Given the description of an element on the screen output the (x, y) to click on. 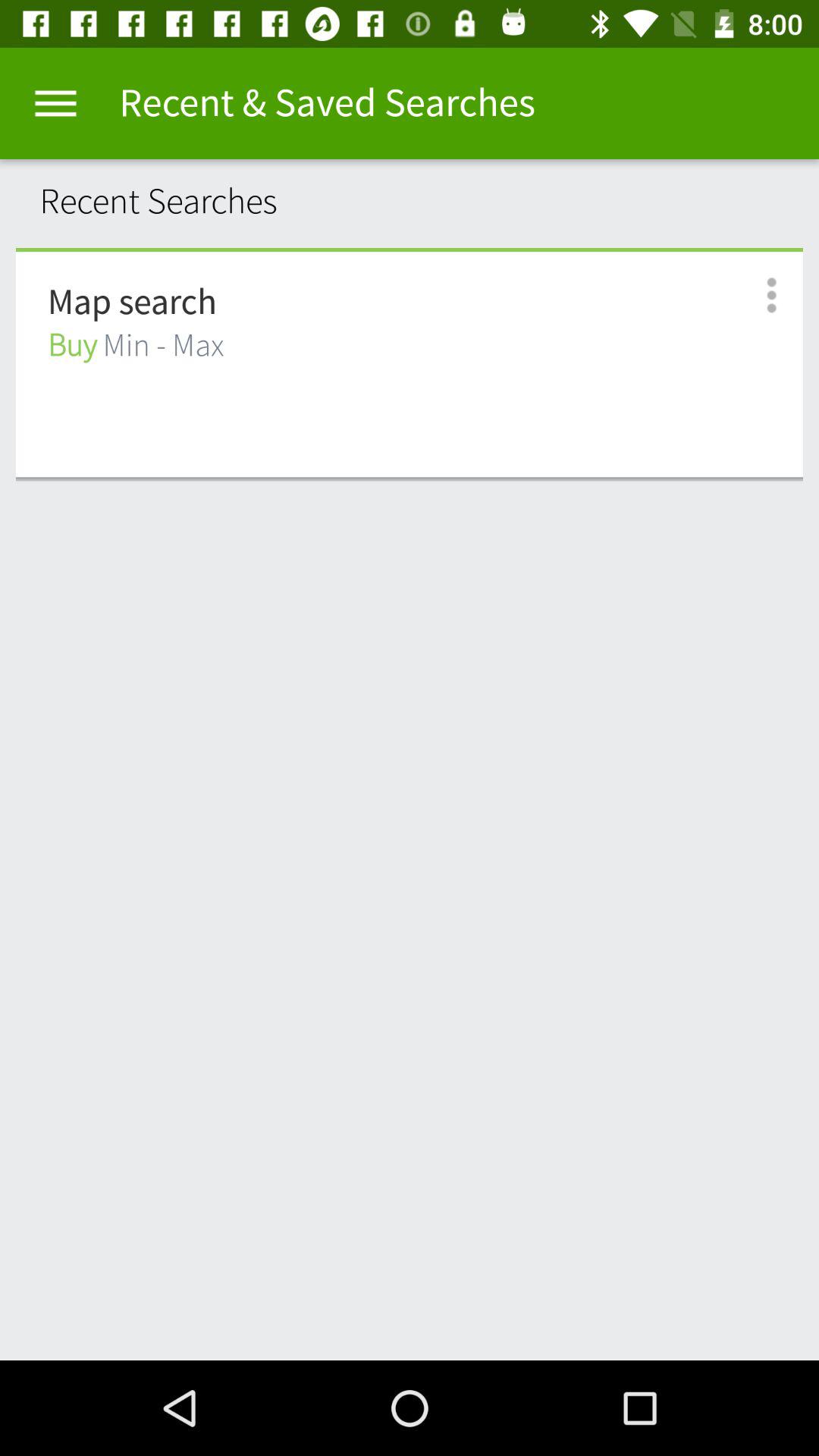
launch item above map search icon (409, 249)
